Given the description of an element on the screen output the (x, y) to click on. 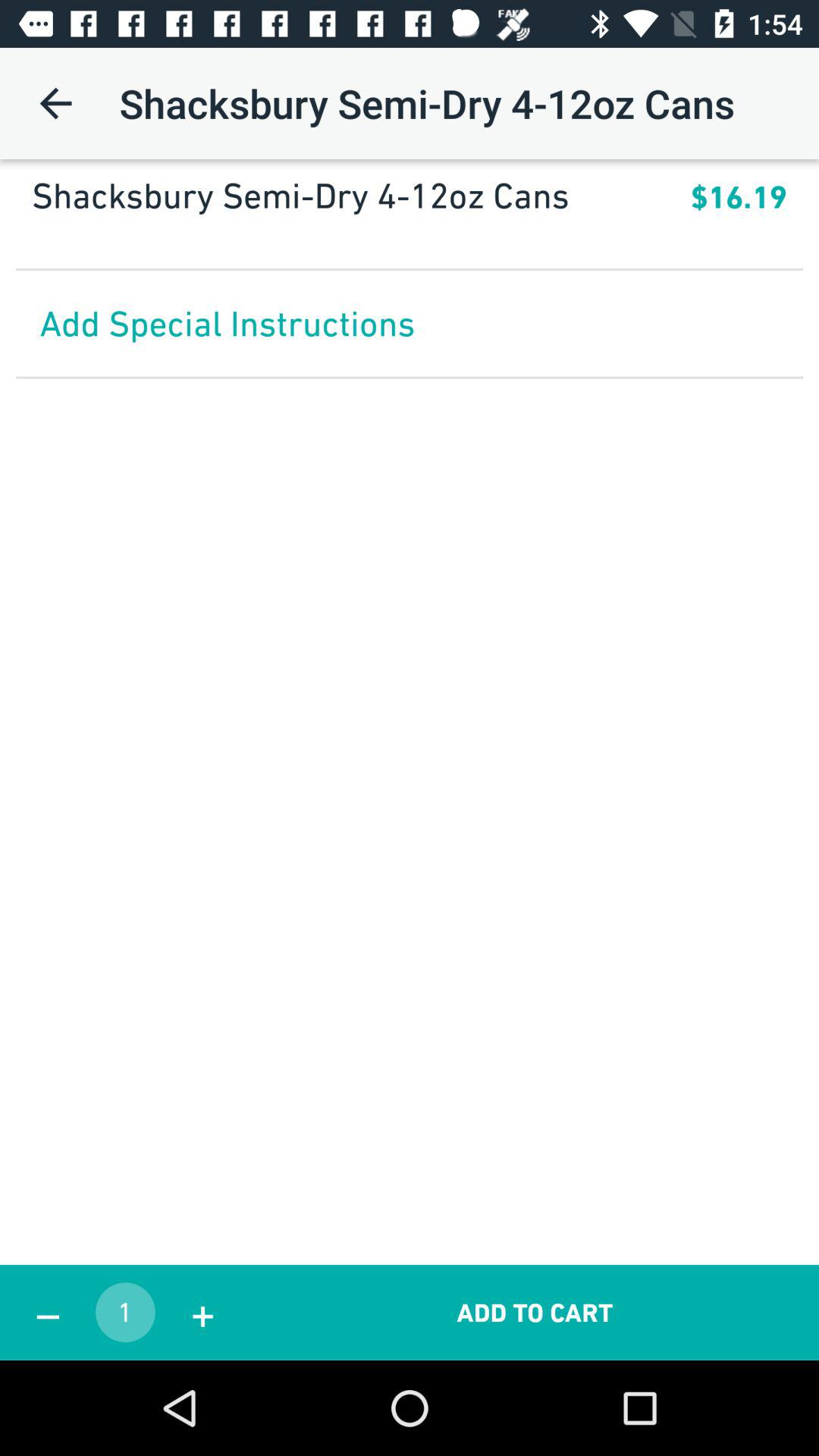
choose the icon above shacksbury semi dry item (55, 103)
